Given the description of an element on the screen output the (x, y) to click on. 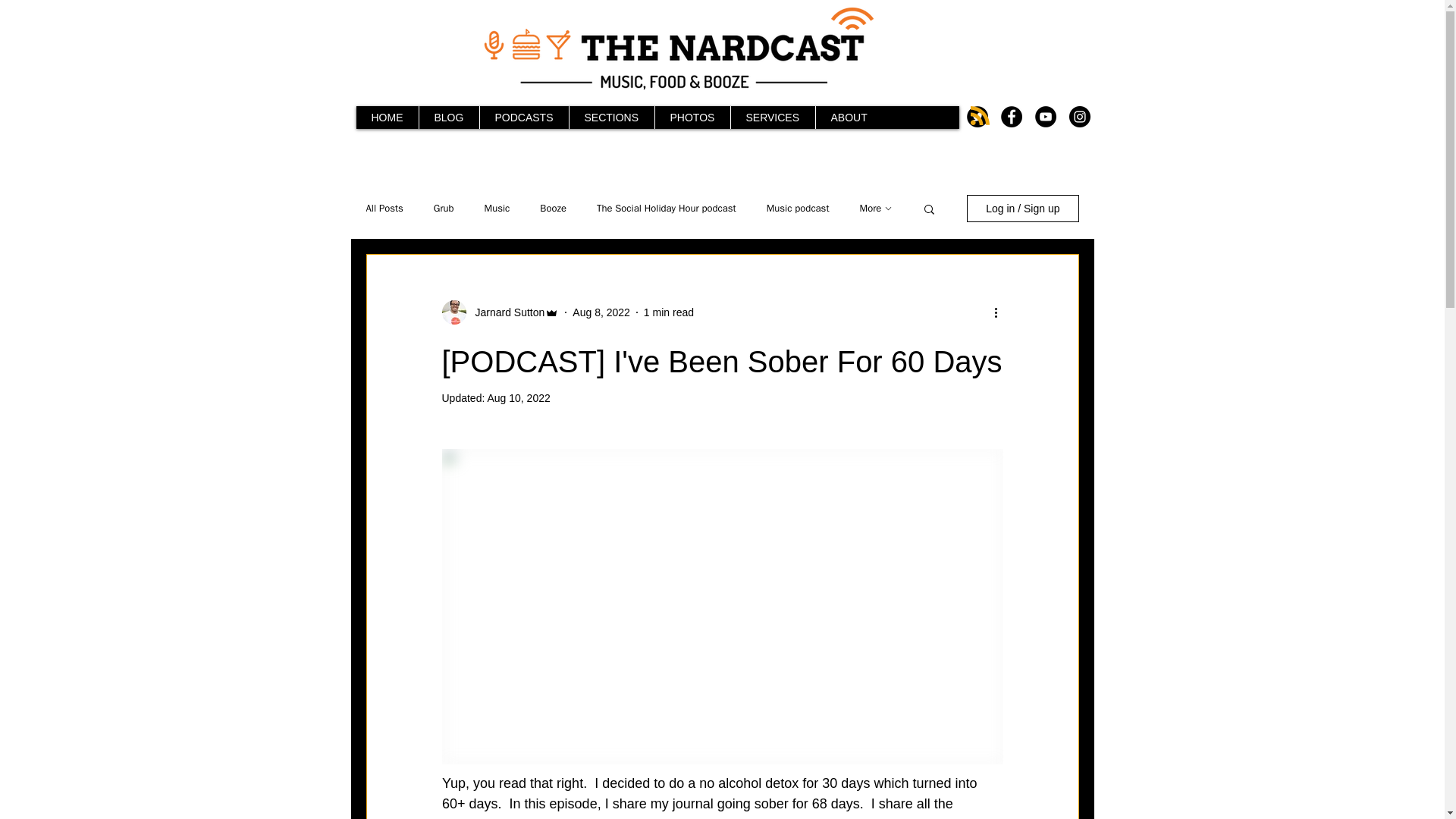
SECTIONS (611, 117)
Grub (443, 208)
The Nardcast (678, 47)
Music (497, 208)
ABOUT (847, 117)
BLOG (449, 117)
PODCASTS (524, 117)
SERVICES (771, 117)
Booze (553, 208)
Aug 10, 2022 (518, 398)
